Given the description of an element on the screen output the (x, y) to click on. 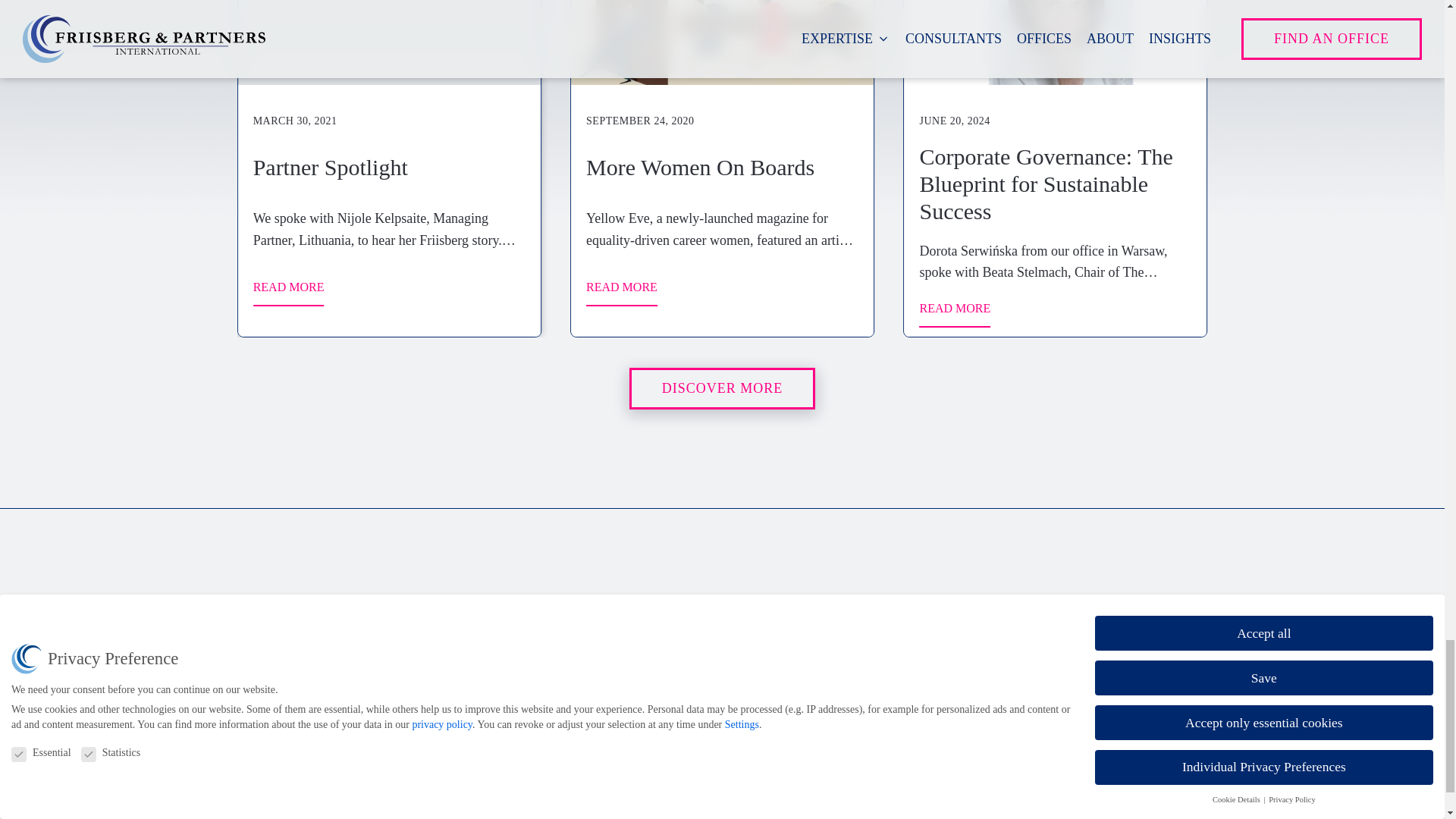
DISCOVER MORE (721, 388)
Terms (327, 773)
Privacy Policy (348, 746)
Executive Search (667, 646)
